Given the description of an element on the screen output the (x, y) to click on. 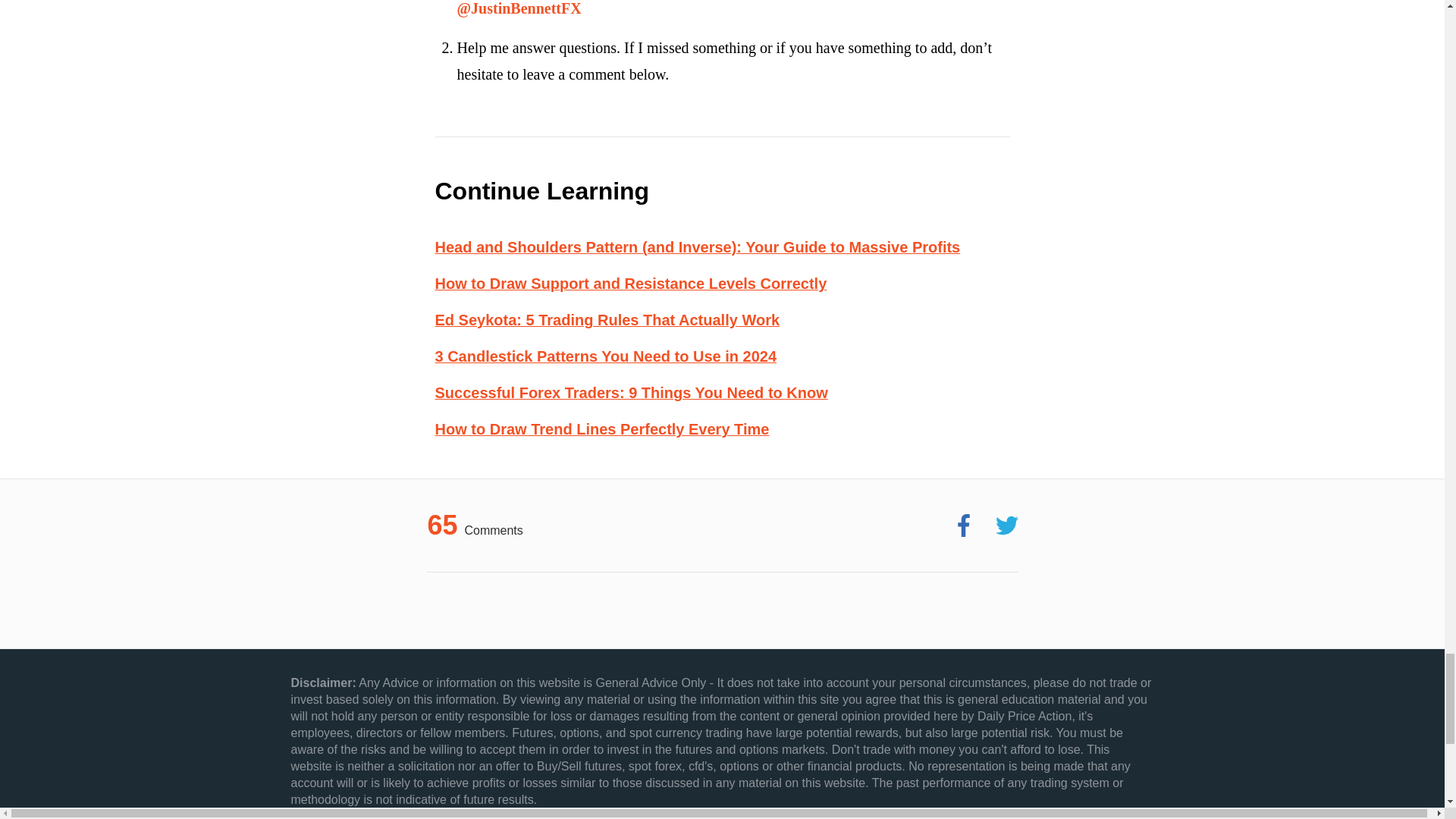
3 Candlestick Patterns You Need to Use in 2024 (606, 356)
How to Draw Support and Resistance Levels Correctly (631, 283)
How to Draw Trend Lines Perfectly Every Time (602, 428)
Ed Seykota: 5 Trading Rules That Actually Work (607, 320)
Ed Seykota: 5 Trading Rules That Actually Work (607, 320)
Successful Forex Traders: 9 Things You Need to Know (631, 392)
How to Draw Support and Resistance Levels Correctly (631, 283)
3 Candlestick Patterns You Need to Use in 2024 (606, 356)
